Given the description of an element on the screen output the (x, y) to click on. 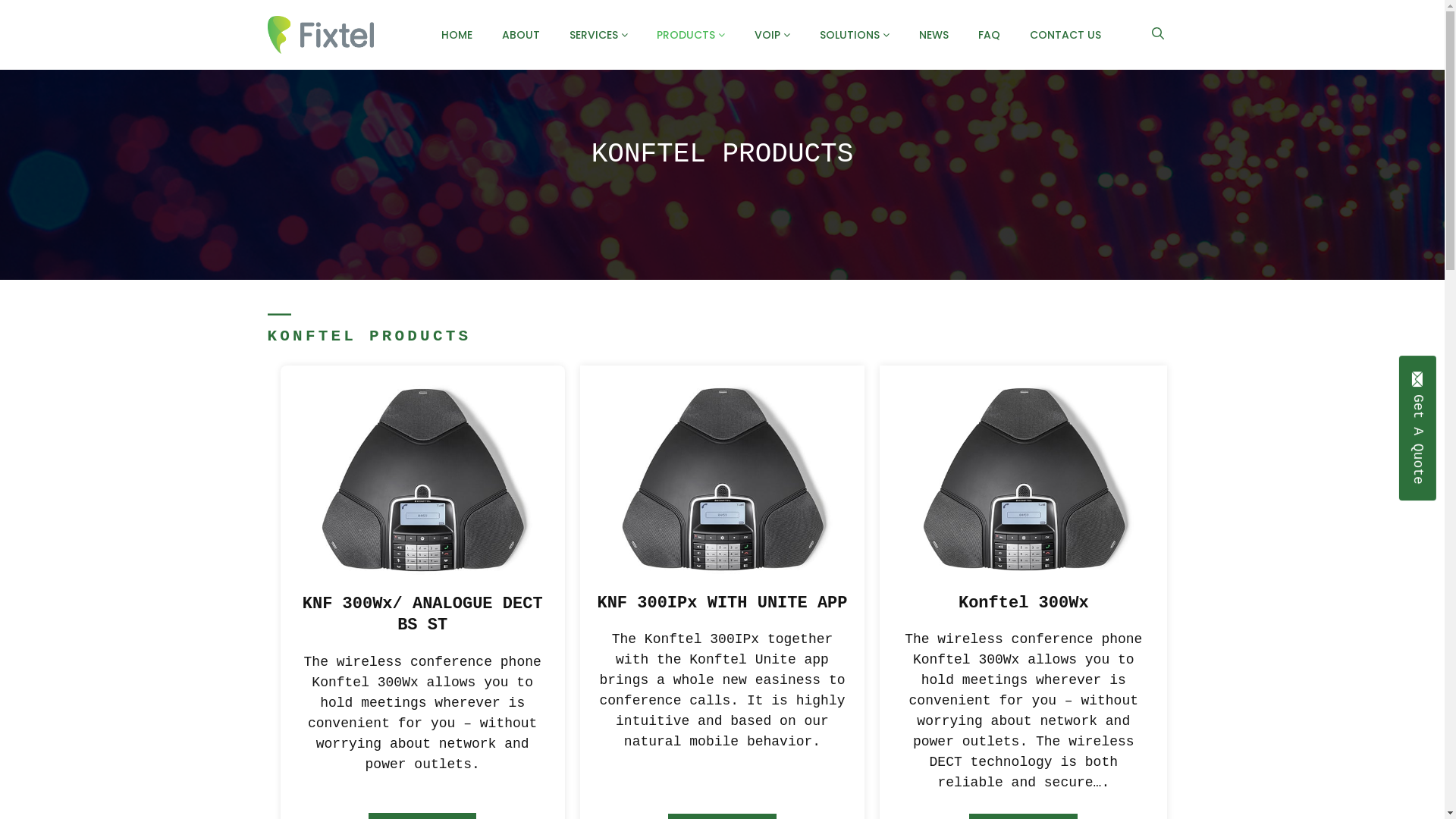
Skip to content Element type: text (13, 13)
SERVICES Element type: text (598, 34)
VOIP Element type: text (771, 34)
FAQ Element type: text (988, 34)
SOLUTIONS Element type: text (854, 34)
PRODUCTS Element type: text (690, 34)
HOME Element type: text (456, 34)
NEWS Element type: text (933, 34)
ABOUT Element type: text (520, 34)
CONTACT US Element type: text (1065, 34)
